Given the description of an element on the screen output the (x, y) to click on. 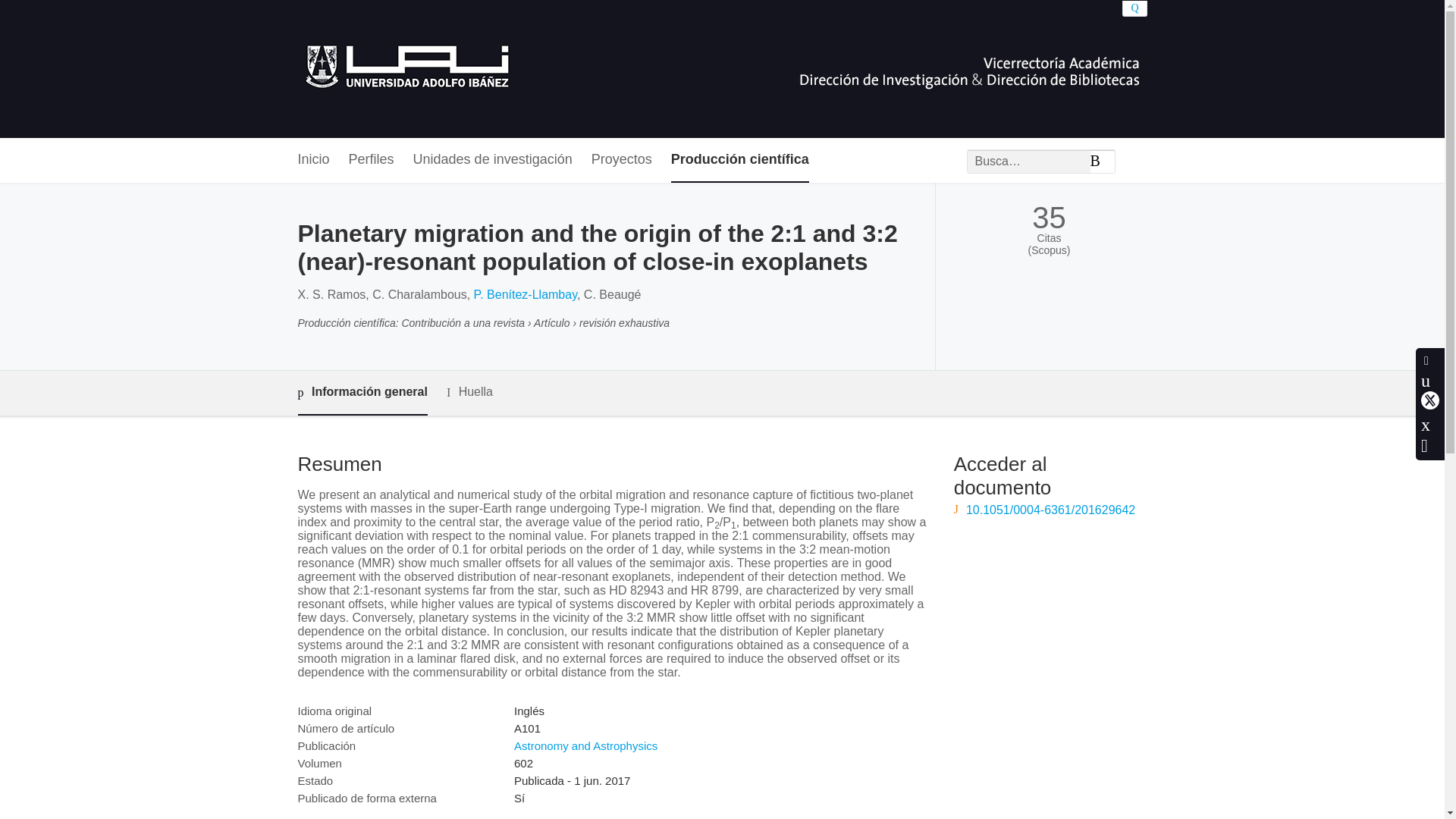
Proyectos (621, 160)
Perfiles (371, 160)
Huella (469, 392)
Astronomy and Astrophysics (585, 745)
